Given the description of an element on the screen output the (x, y) to click on. 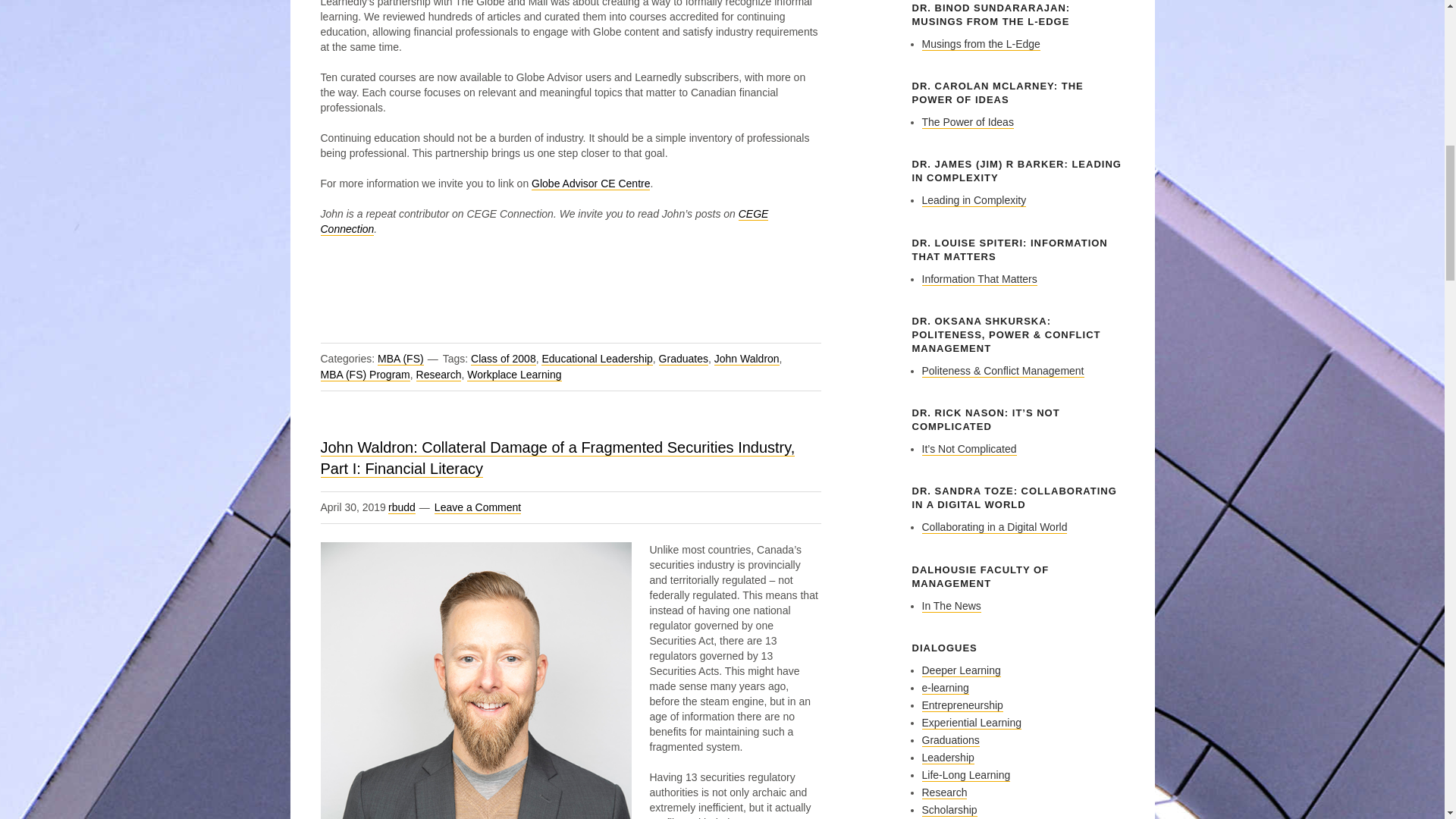
CEGE Connection (544, 221)
Educational Leadership (596, 358)
Graduates (683, 358)
Globe Advisor CE Centre (590, 183)
Workplace Learning (513, 374)
rbudd (401, 507)
John Waldron (746, 358)
Class of 2008 (502, 358)
Leave a Comment (477, 507)
